Given the description of an element on the screen output the (x, y) to click on. 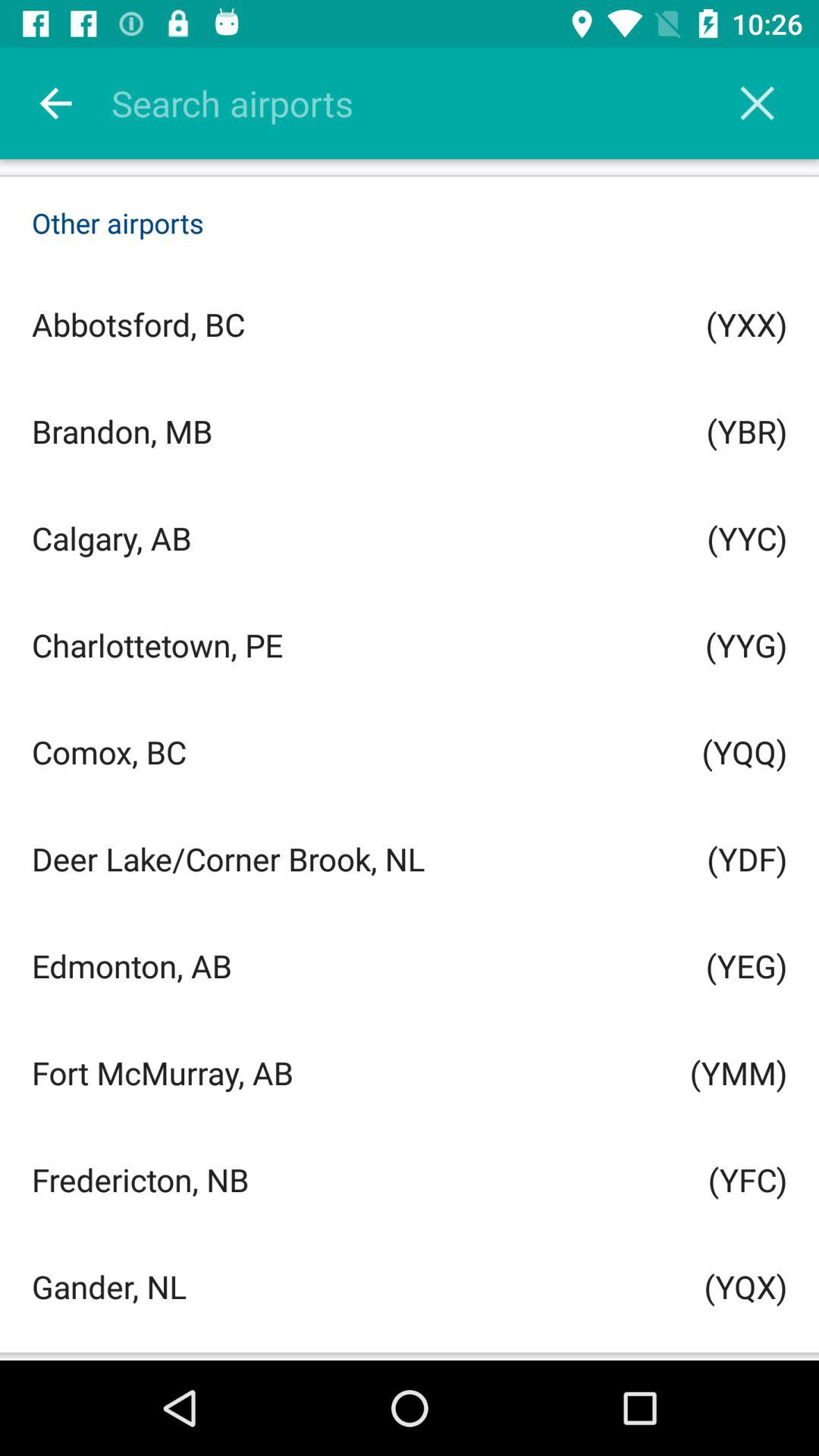
close search (757, 103)
